Given the description of an element on the screen output the (x, y) to click on. 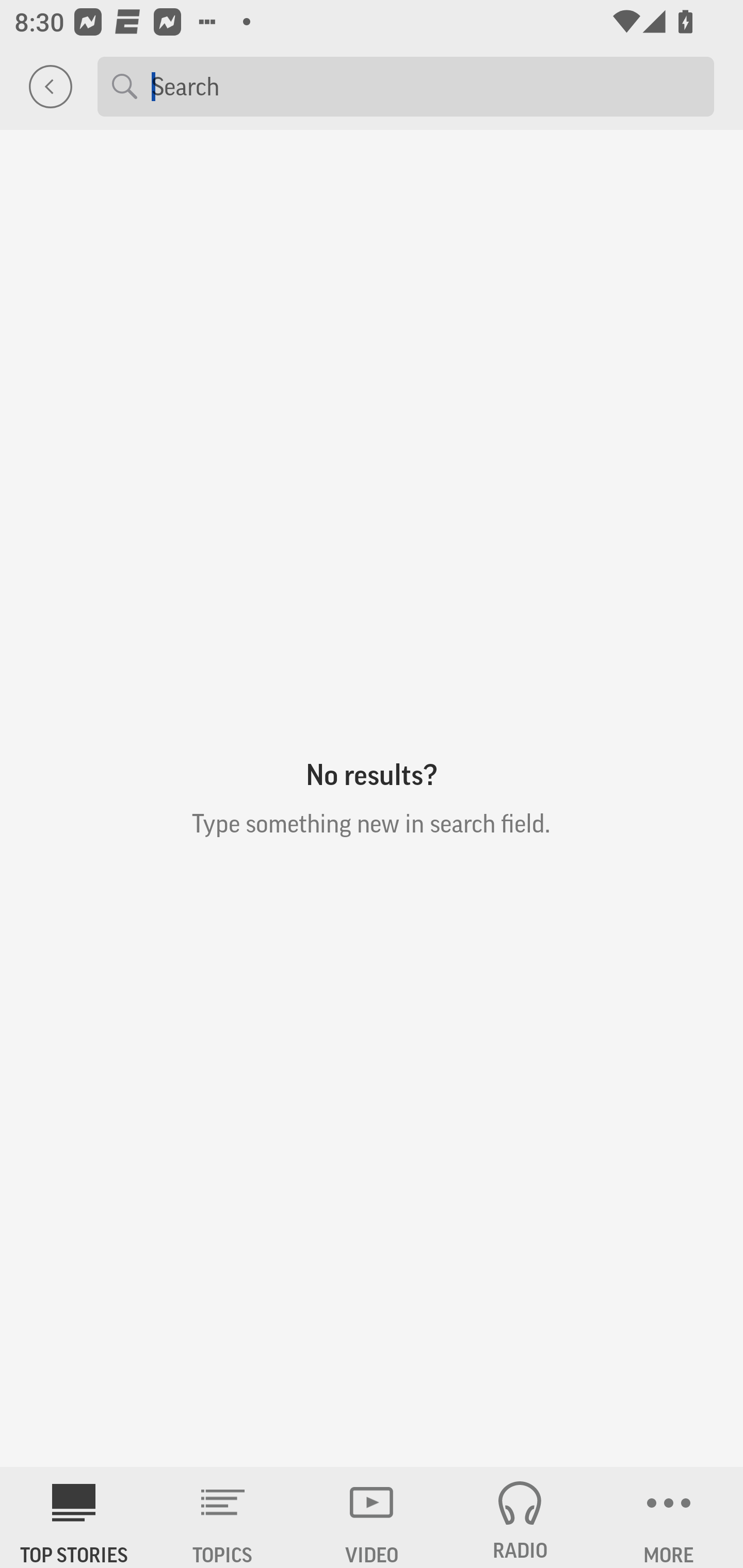
Search (425, 86)
AP News TOP STORIES (74, 1517)
TOPICS (222, 1517)
VIDEO (371, 1517)
RADIO (519, 1517)
MORE (668, 1517)
